Given the description of an element on the screen output the (x, y) to click on. 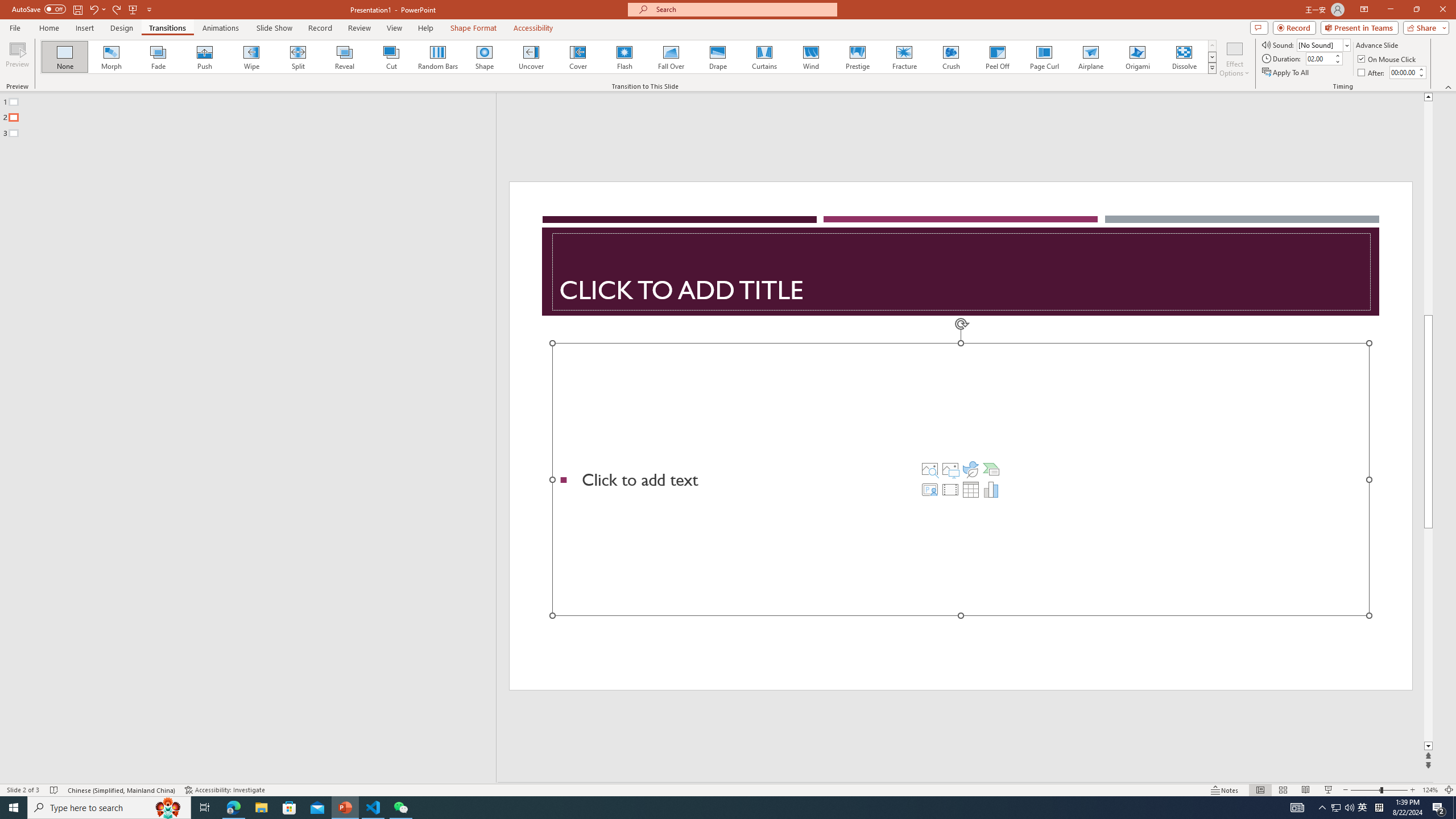
Airplane (1090, 56)
Drape (717, 56)
Cover (577, 56)
Duration (1319, 58)
